Given the description of an element on the screen output the (x, y) to click on. 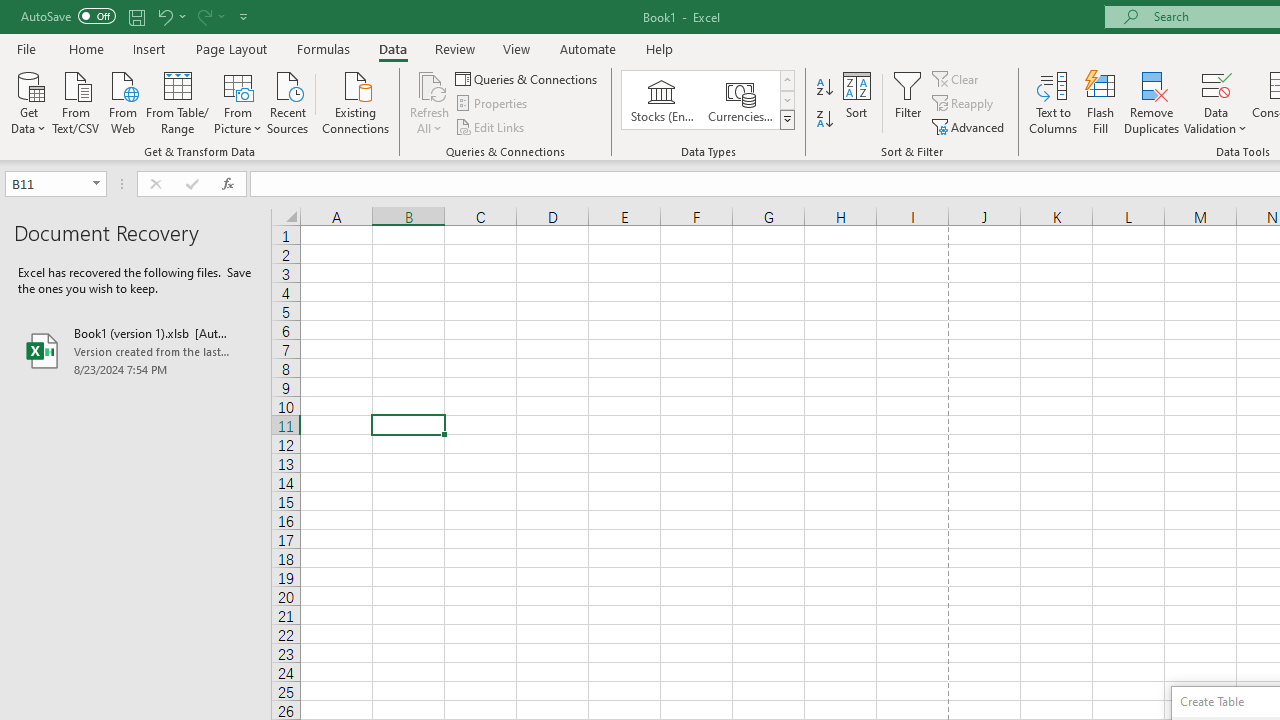
Reapply (964, 103)
AutoSave (68, 16)
System (10, 11)
From Text/CSV (75, 101)
Refresh All (429, 84)
Get Data (28, 101)
Class: NetUIImage (787, 119)
Name Box (56, 183)
Book1 (version 1).xlsb  [AutoRecovered] (136, 350)
Clear (957, 78)
Stocks (English) (662, 100)
Undo (164, 15)
Recent Sources (287, 101)
Redo (209, 15)
